Given the description of an element on the screen output the (x, y) to click on. 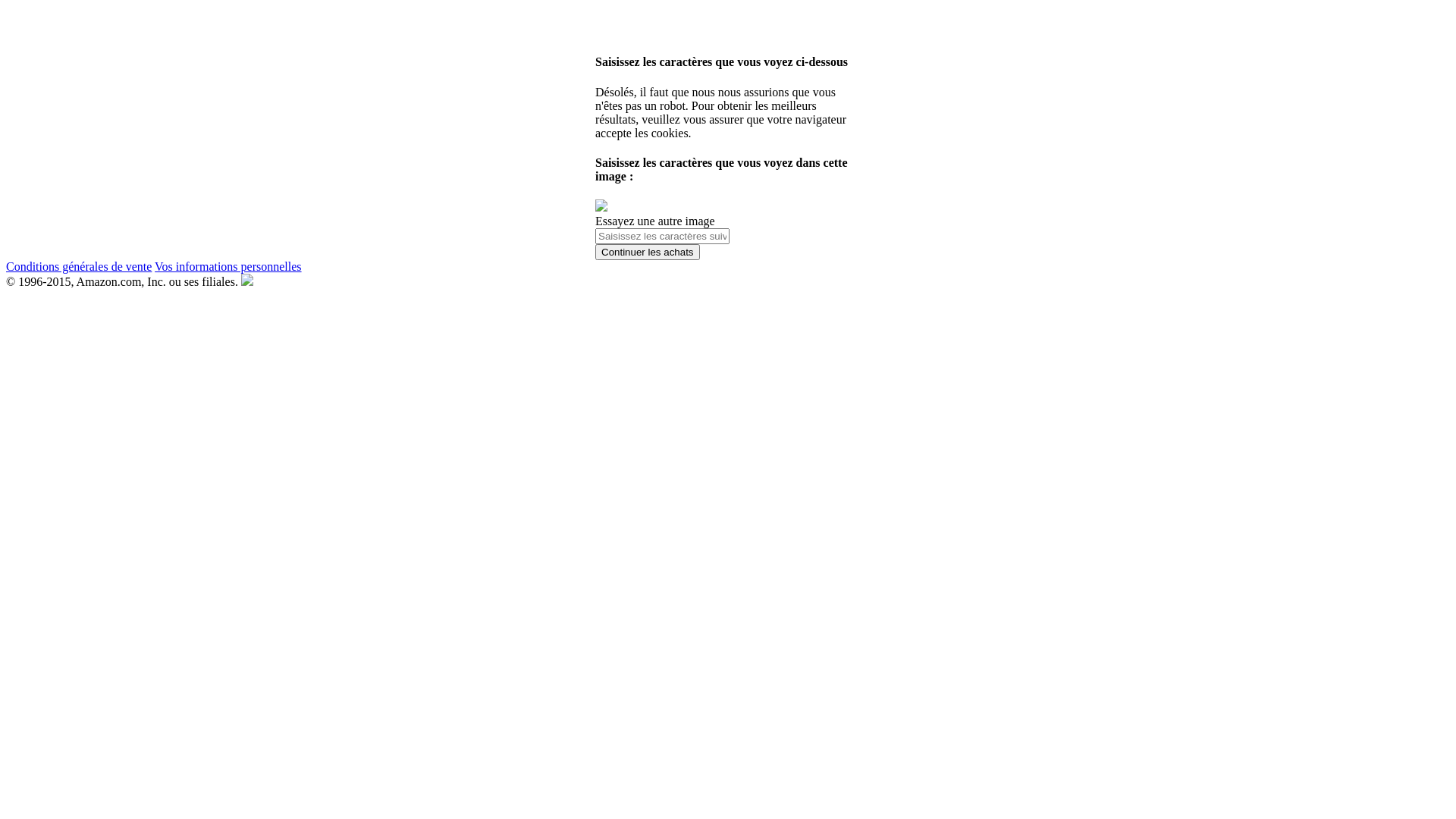
Continuer les achats Element type: text (647, 252)
Essayez une autre image Element type: text (655, 220)
Vos informations personnelles Element type: text (227, 266)
